Given the description of an element on the screen output the (x, y) to click on. 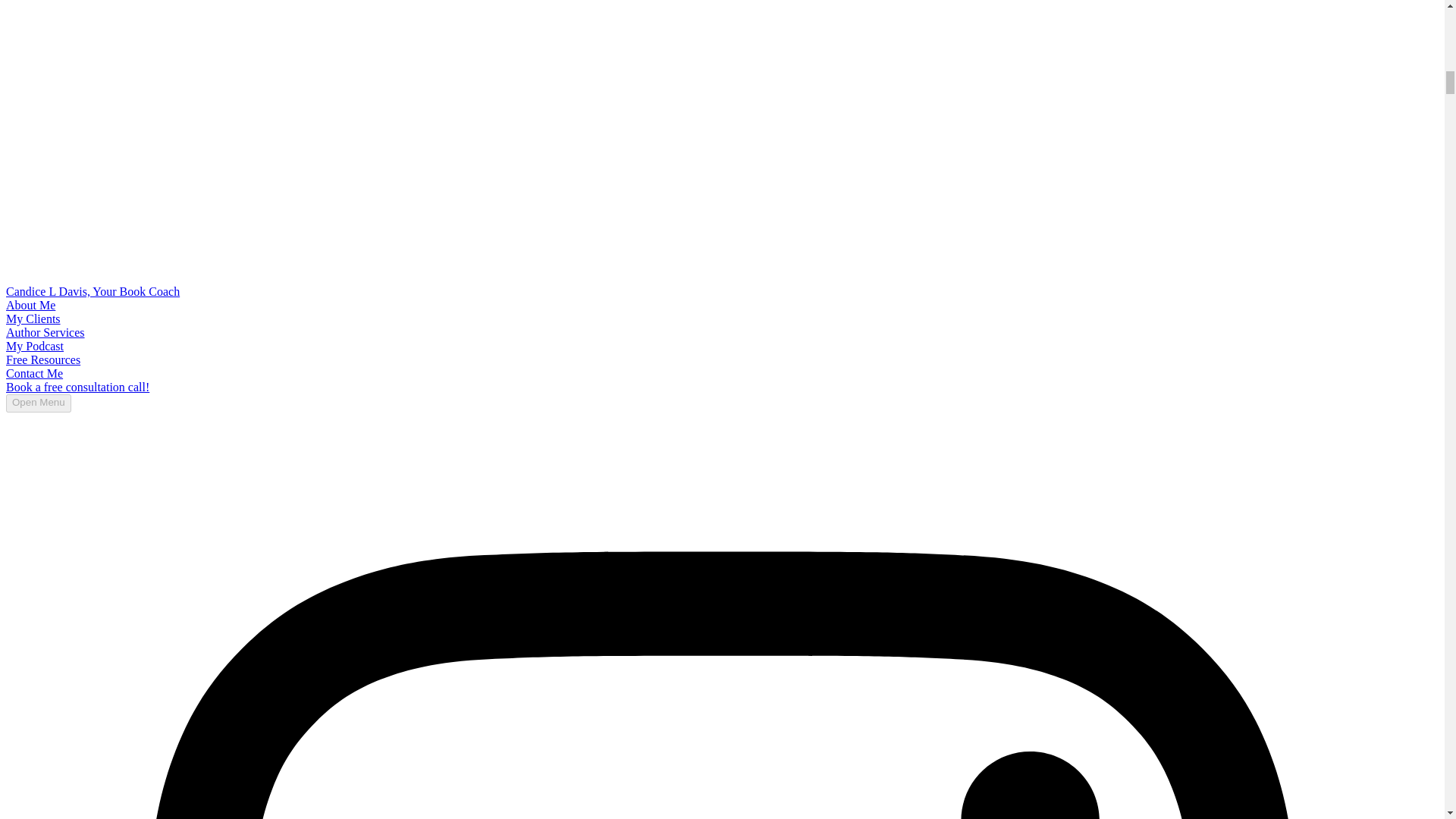
My Podcast (34, 345)
About Me (30, 305)
Free Resources (42, 359)
Open Menu (38, 402)
Candice L Davis, Your Book Coach (92, 291)
Book a free consultation call! (77, 386)
My Clients (33, 318)
Contact Me (33, 373)
Author Services (44, 332)
